Given the description of an element on the screen output the (x, y) to click on. 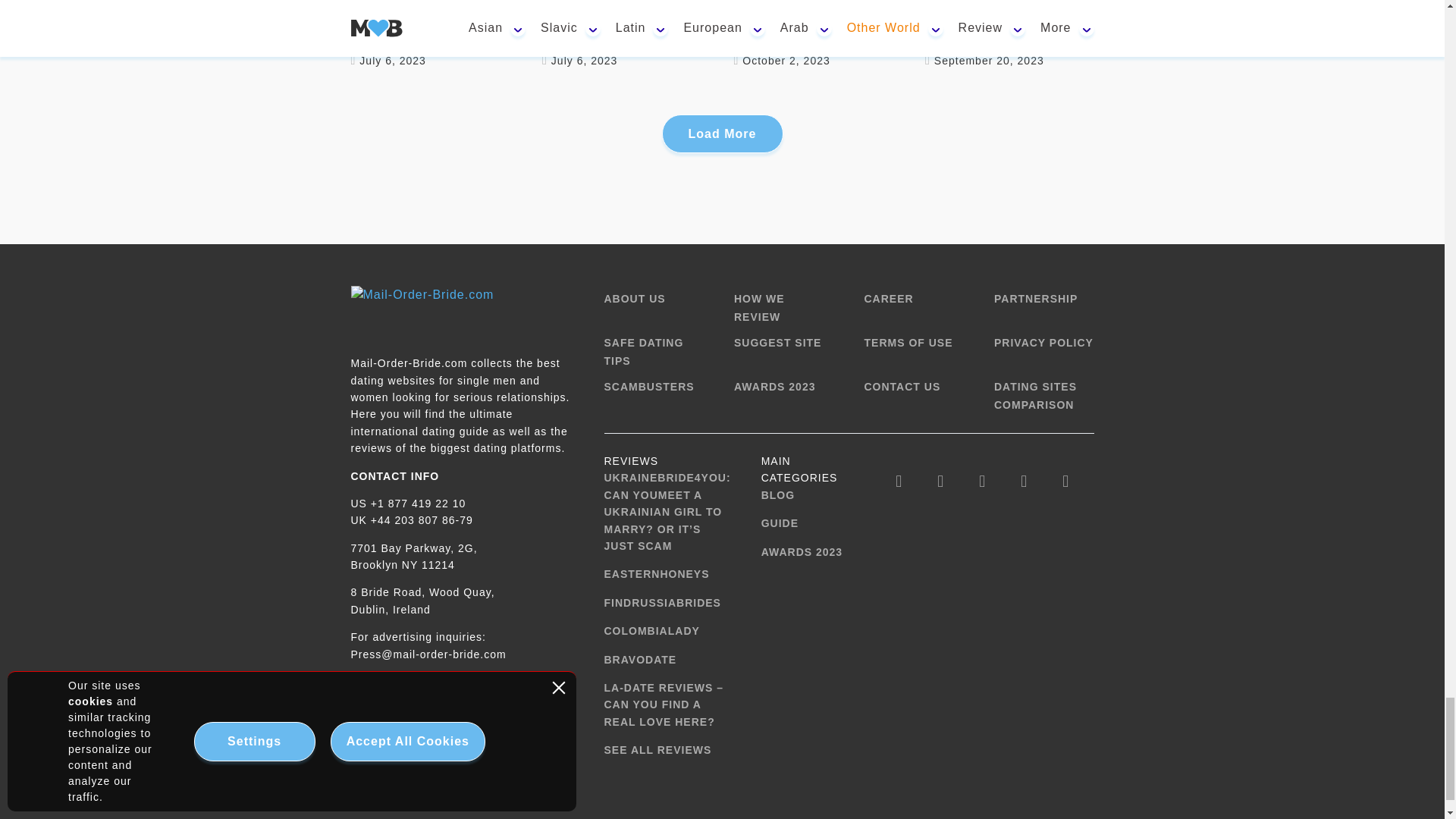
Follow us on Instagram (981, 480)
Follow us on Twitter (940, 480)
Follow us on Facebook (898, 480)
Mail-Order-Bride.com (421, 308)
Follow us on Pinterest (1024, 480)
Follow us on Reddit (1065, 480)
